Given the description of an element on the screen output the (x, y) to click on. 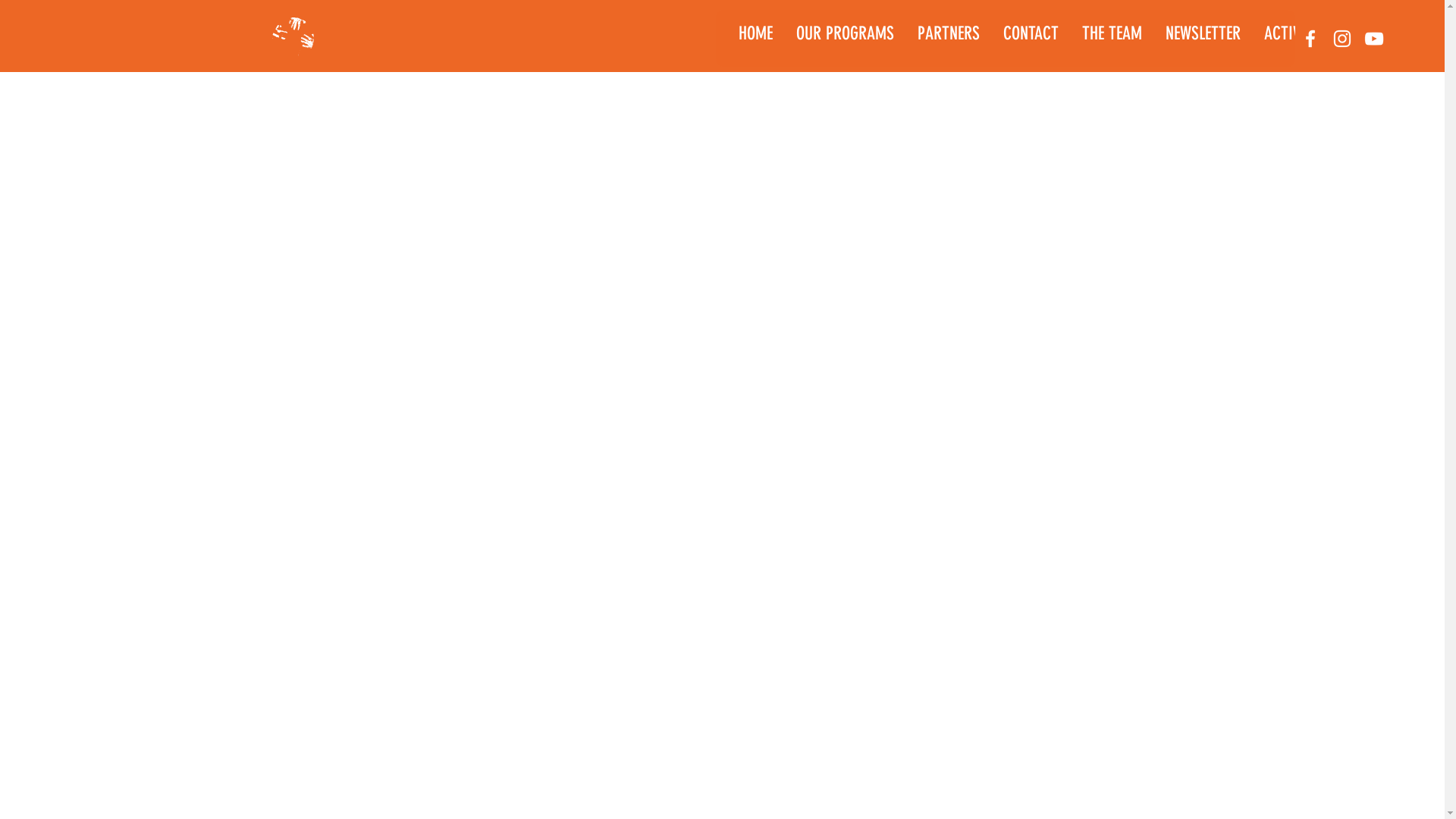
THE TEAM Element type: text (1111, 38)
OUR PROGRAMS Element type: text (844, 38)
ACTIVITY REPORT Element type: text (1317, 38)
CONTACT Element type: text (1030, 38)
NEWSLETTER Element type: text (1202, 38)
HOME Element type: text (755, 38)
